Given the description of an element on the screen output the (x, y) to click on. 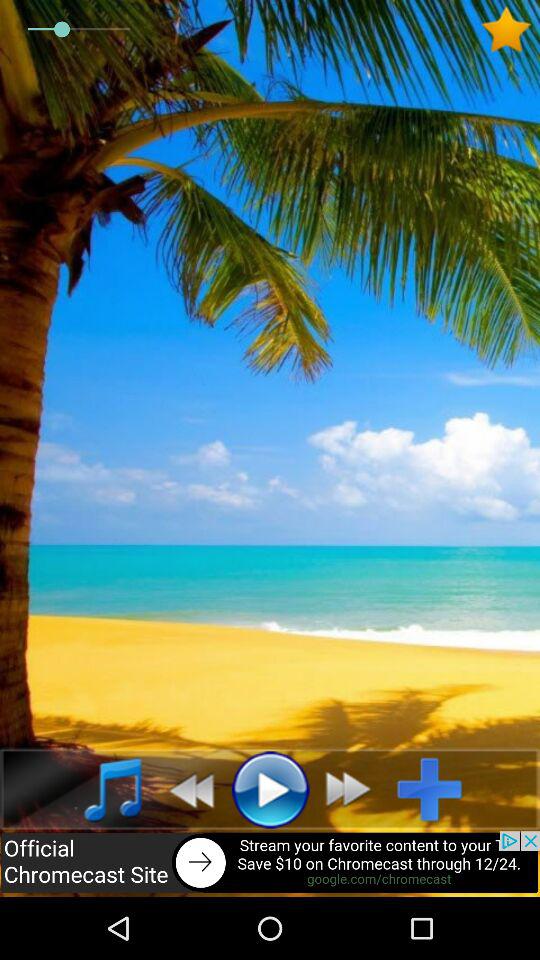
go to forward (353, 789)
